Given the description of an element on the screen output the (x, y) to click on. 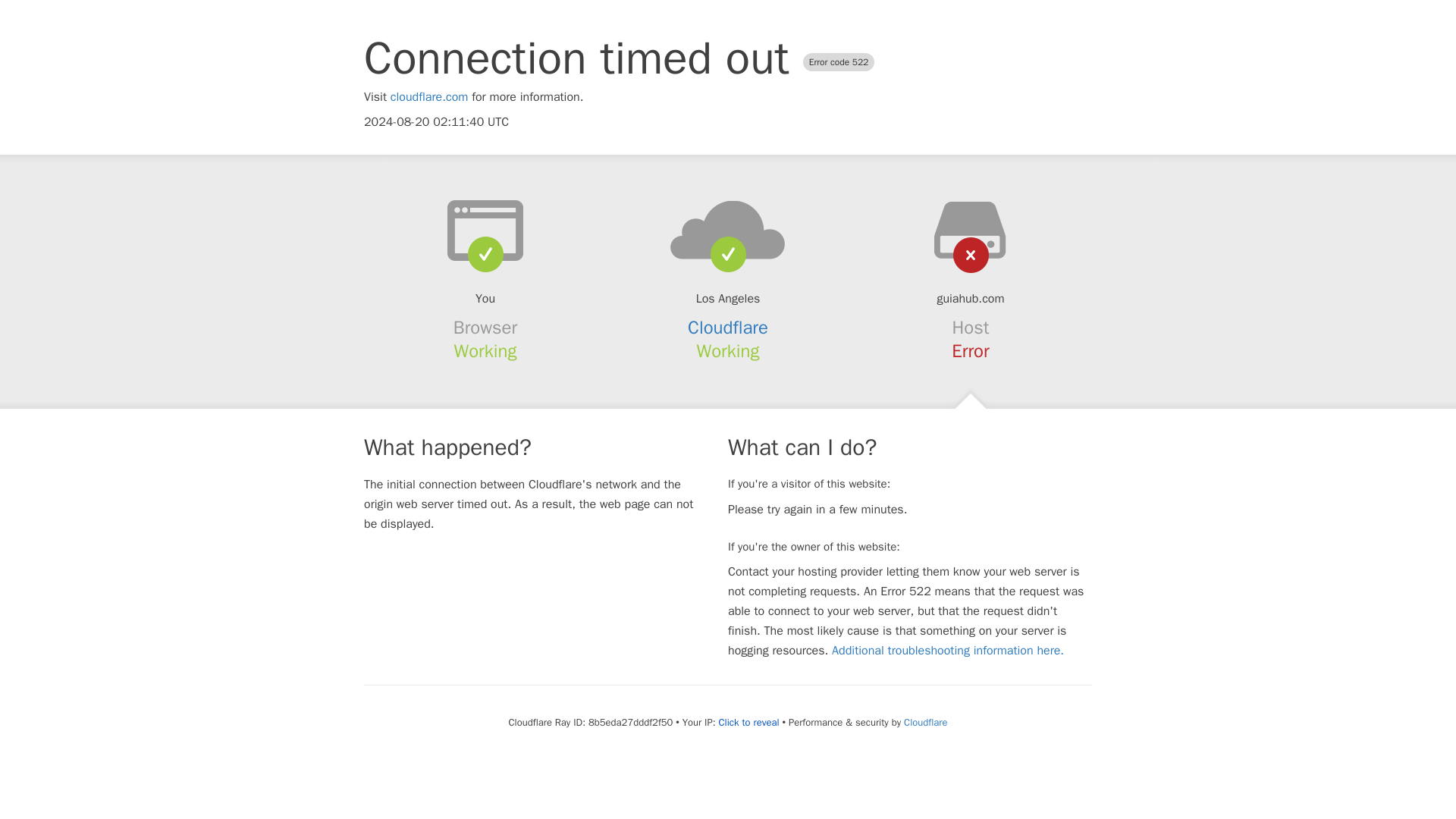
cloudflare.com (429, 96)
Additional troubleshooting information here. (947, 650)
Cloudflare (727, 327)
Cloudflare (925, 721)
Click to reveal (748, 722)
